Given the description of an element on the screen output the (x, y) to click on. 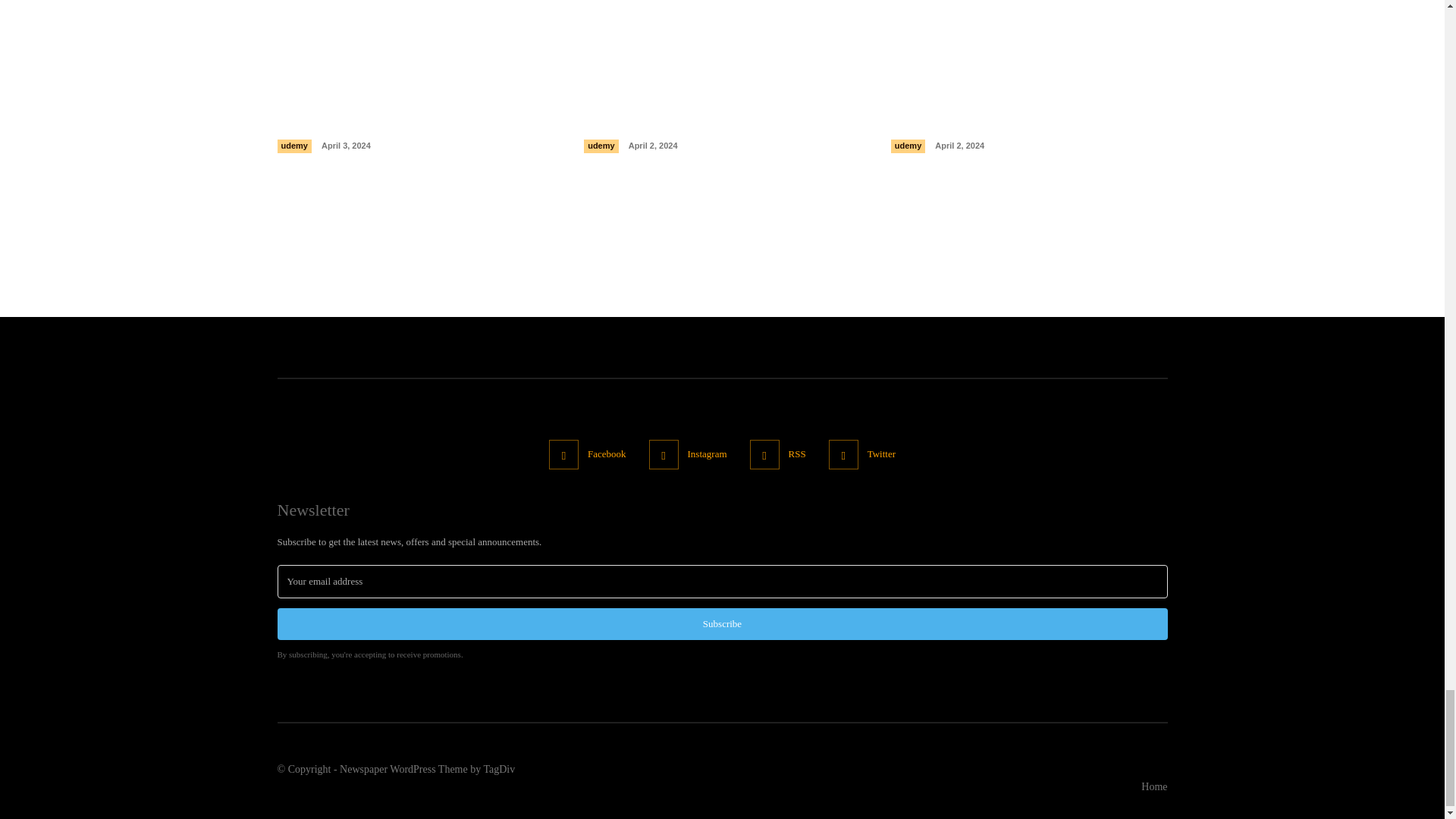
udemy (600, 146)
udemy (294, 146)
udemy (907, 146)
